Given the description of an element on the screen output the (x, y) to click on. 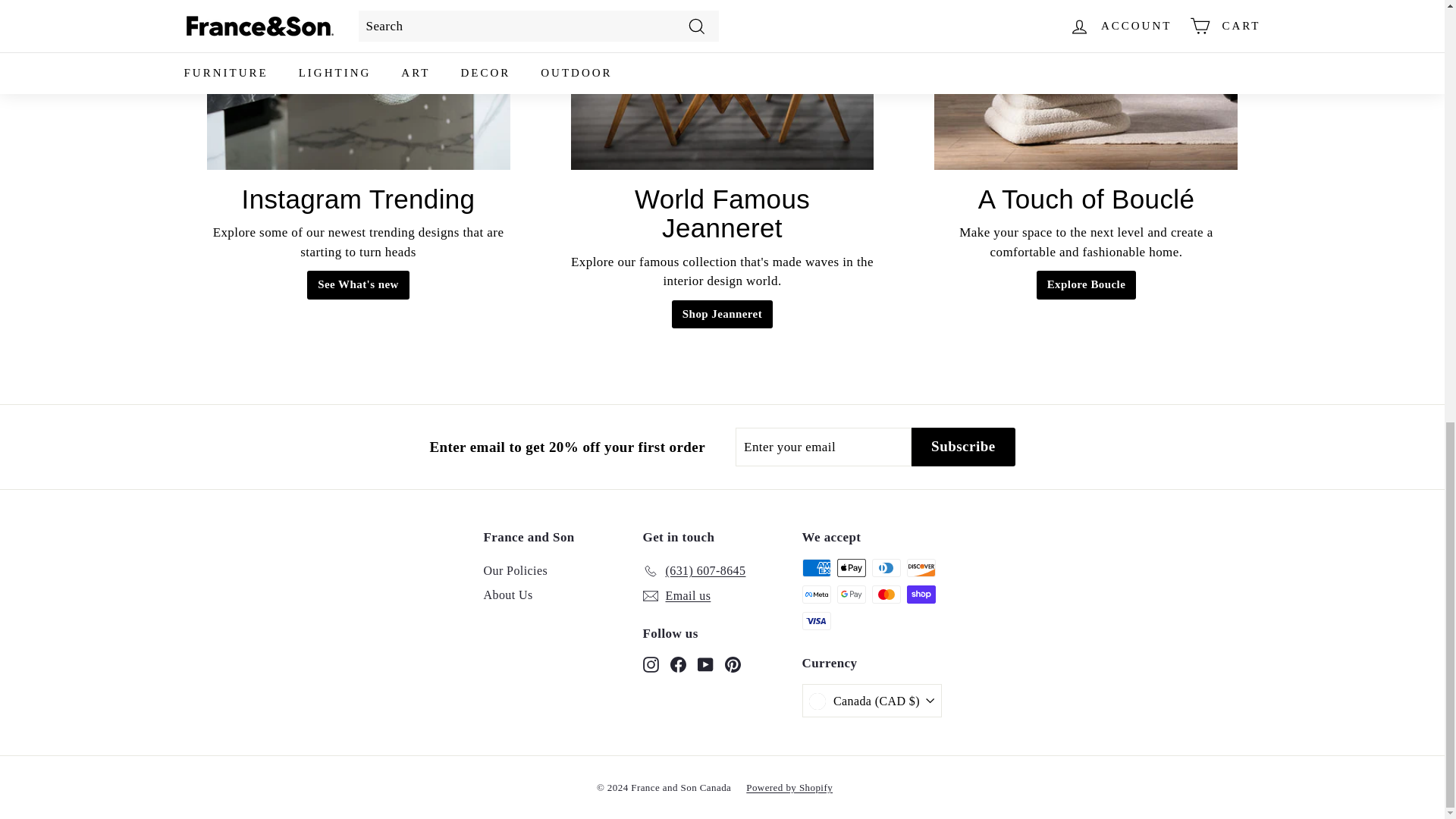
Discover (921, 567)
Diners Club (886, 567)
Shop Pay (921, 594)
Meta Pay (816, 594)
Google Pay (851, 594)
Mastercard (886, 594)
American Express (816, 567)
Apple Pay (851, 567)
Visa (816, 620)
